Given the description of an element on the screen output the (x, y) to click on. 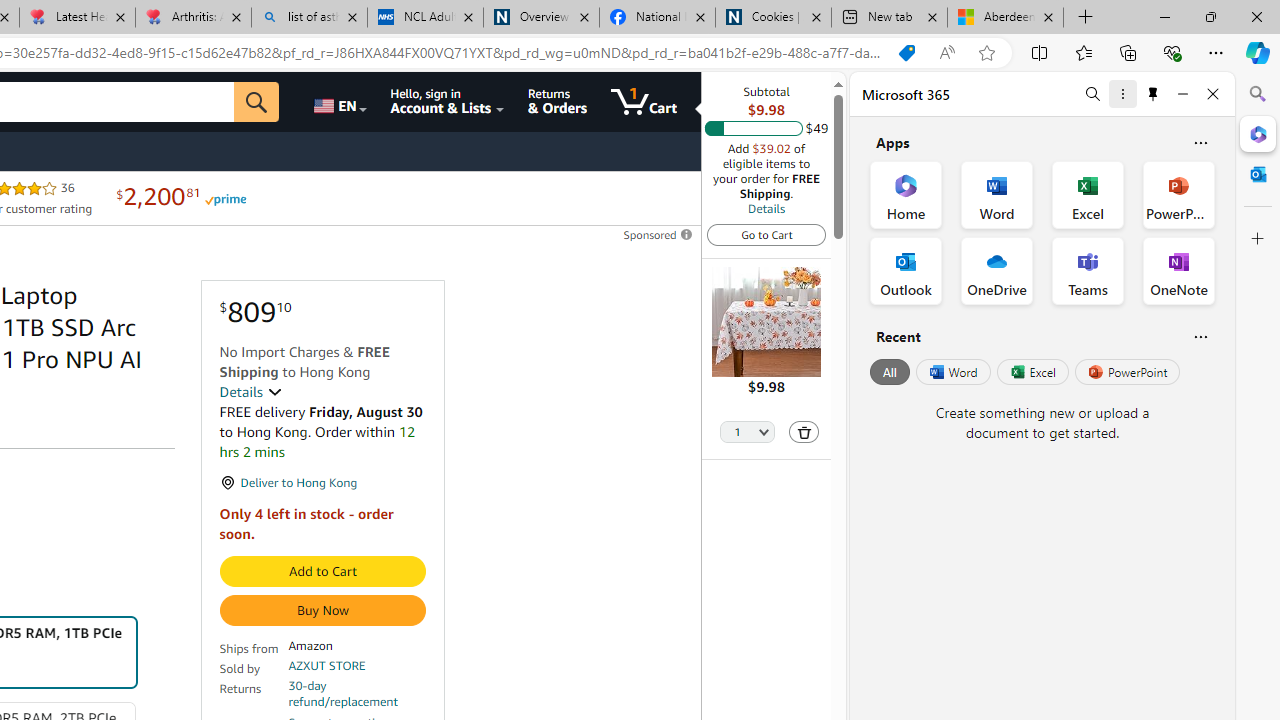
Details  (250, 391)
PowerPoint (1127, 372)
Delete (804, 431)
All (890, 372)
Hello, sign in Account & Lists (447, 101)
Arthritis: Ask Health Professionals (192, 17)
Choose a language for shopping. (339, 101)
Aberdeen, Hong Kong SAR hourly forecast | Microsoft Weather (1005, 17)
Details (765, 208)
